Given the description of an element on the screen output the (x, y) to click on. 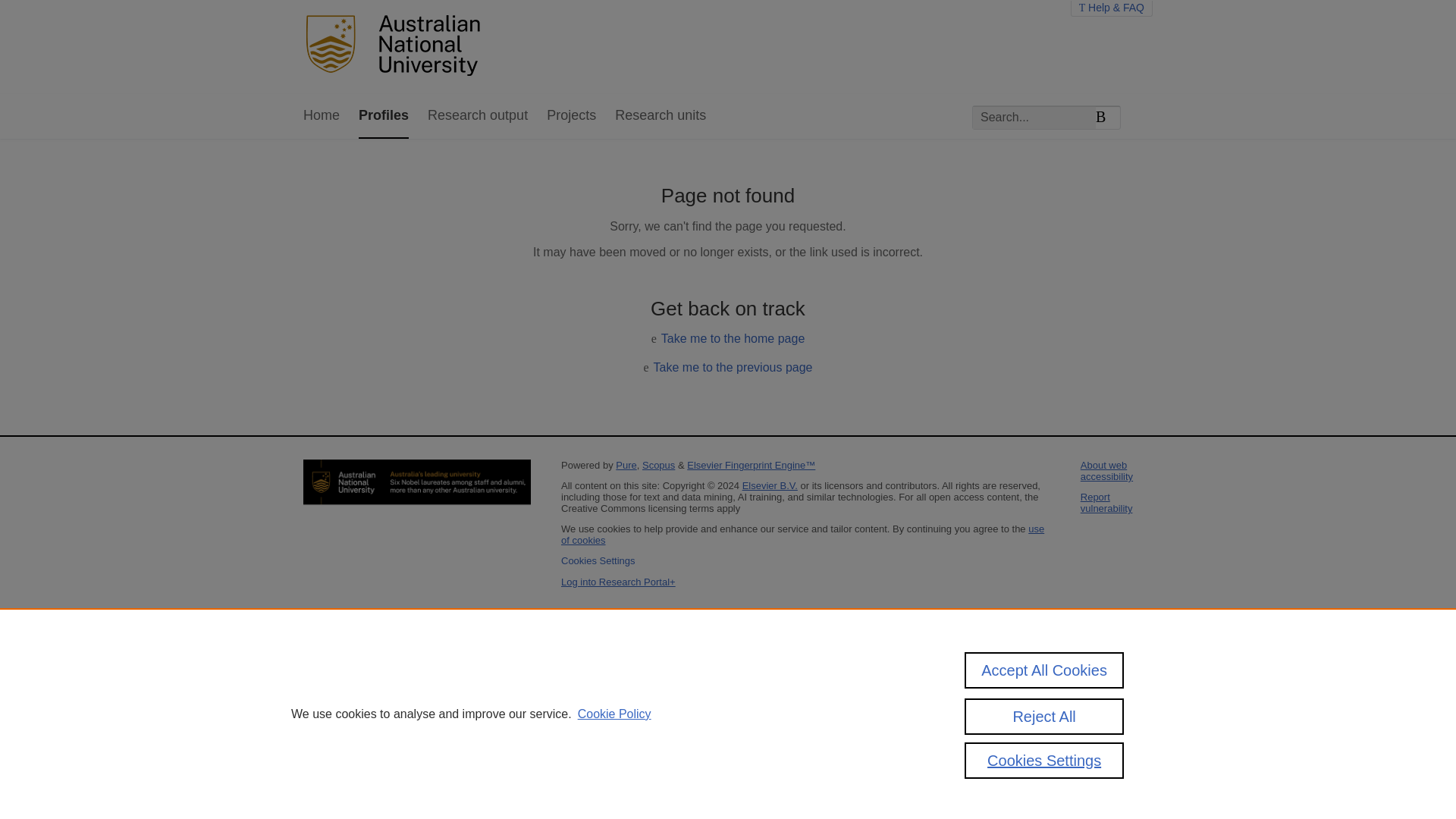
Take me to the previous page (732, 367)
About web accessibility (1106, 470)
Cookies Settings (597, 561)
Profiles (383, 116)
Take me to the home page (733, 338)
Report vulnerability (1106, 502)
The Australian National University Home (397, 46)
Scopus (658, 464)
Research units (660, 116)
Research output (477, 116)
use of cookies (801, 534)
Projects (571, 116)
Elsevier B.V. (769, 485)
Pure (625, 464)
